Given the description of an element on the screen output the (x, y) to click on. 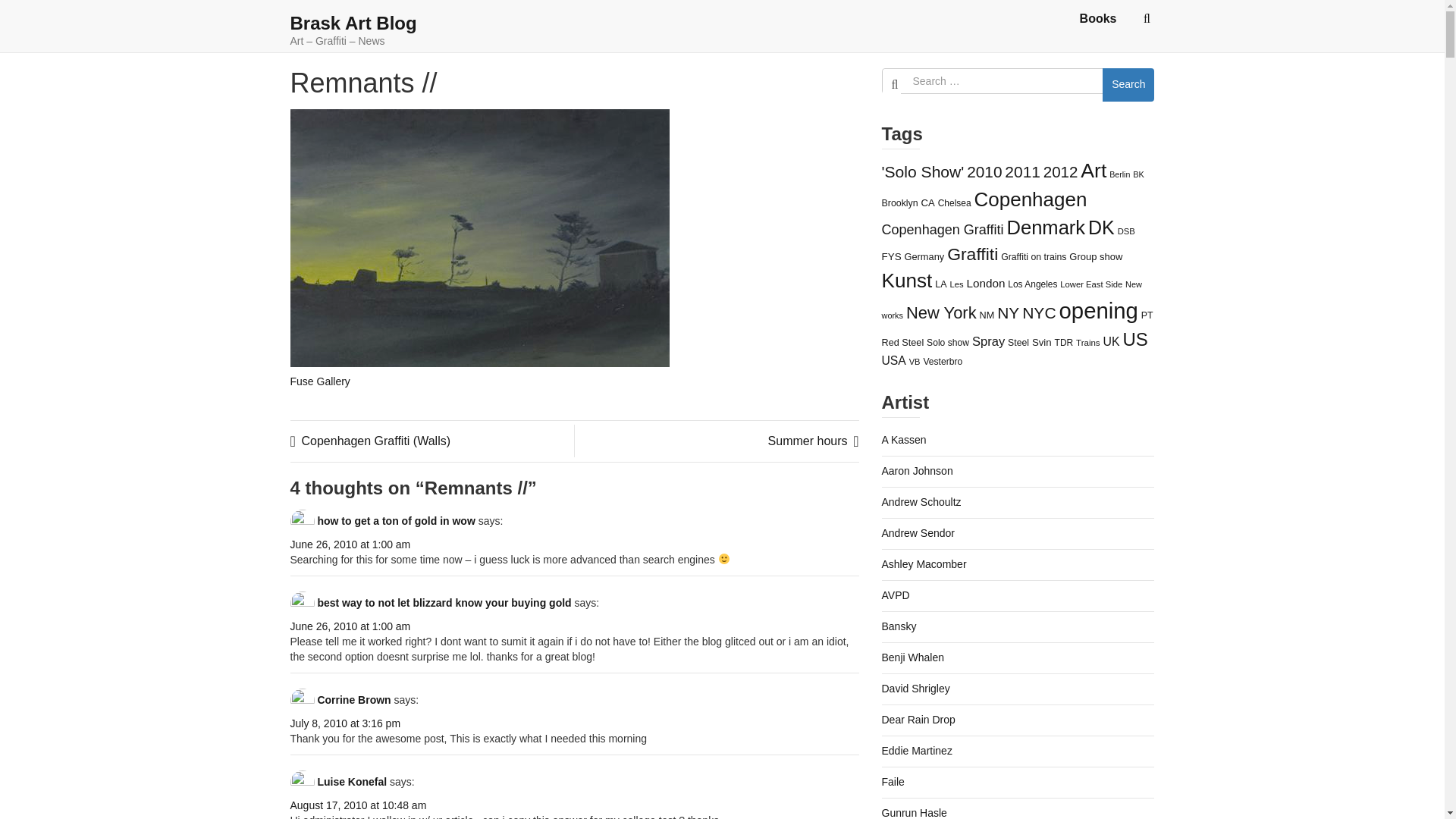
July 8, 2010 at 3:16 pm (344, 723)
June 26, 2010 at 1:00 am (349, 544)
DK (1101, 227)
'Solo Show' (921, 171)
Luise Konefal (352, 781)
Germany (923, 256)
CA (927, 202)
Summer hours (813, 441)
Graffiti (972, 253)
June 26, 2010 at 1:00 am (349, 625)
braskfuse (478, 237)
best way to not let blizzard know your buying gold (443, 603)
FYS (890, 256)
Denmark (1045, 227)
Books (1098, 18)
